Given the description of an element on the screen output the (x, y) to click on. 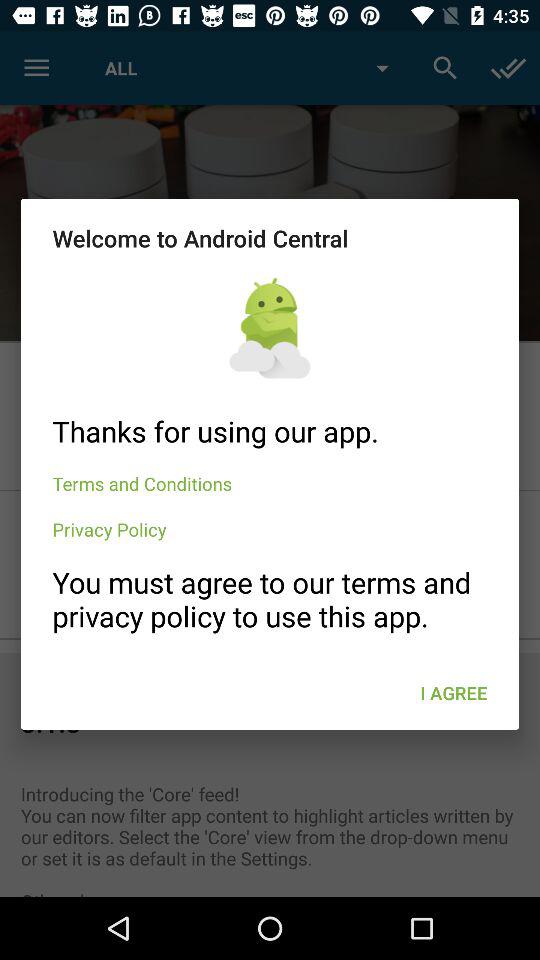
jump until the i agree icon (453, 692)
